Given the description of an element on the screen output the (x, y) to click on. 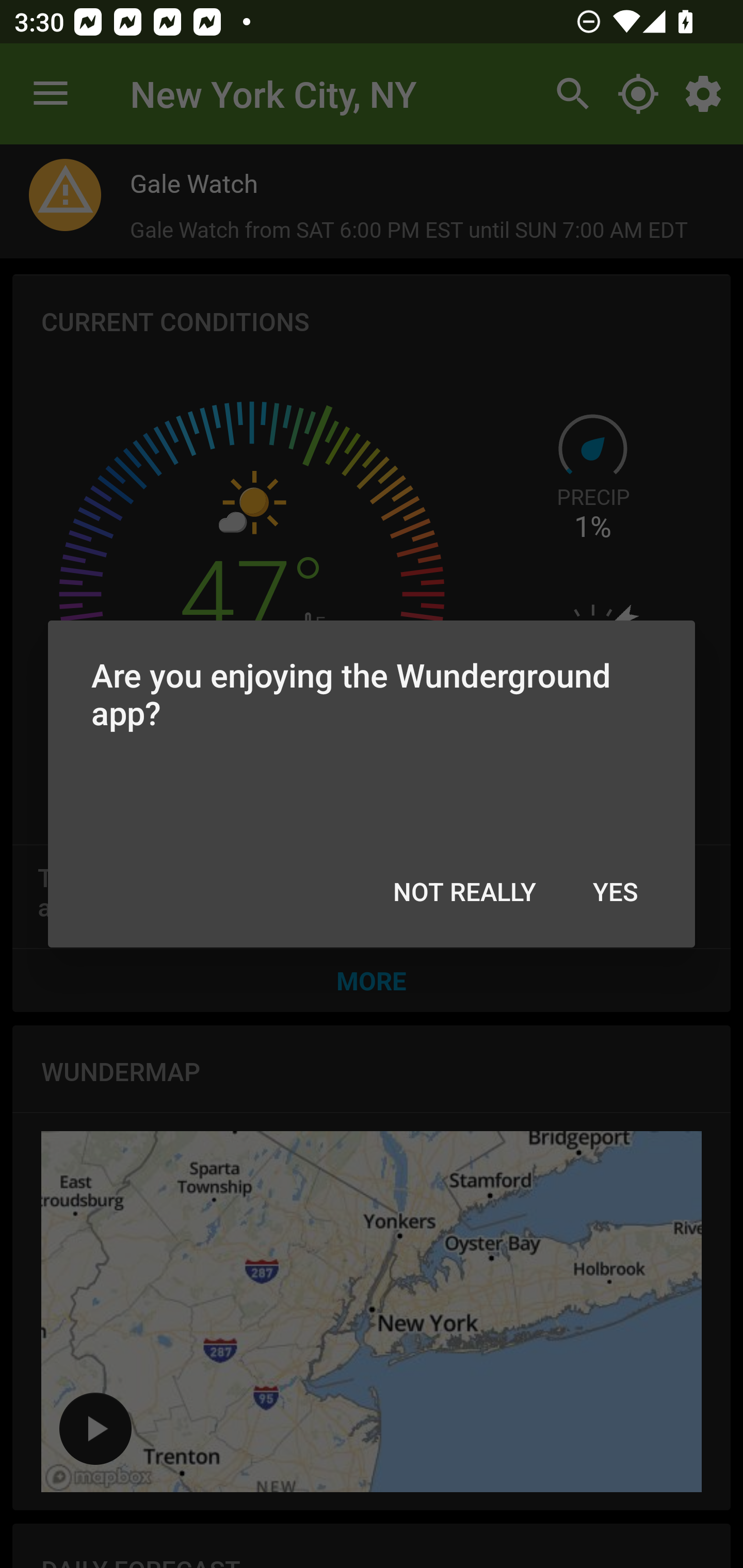
NOT REALLY (464, 891)
YES (615, 891)
